Given the description of an element on the screen output the (x, y) to click on. 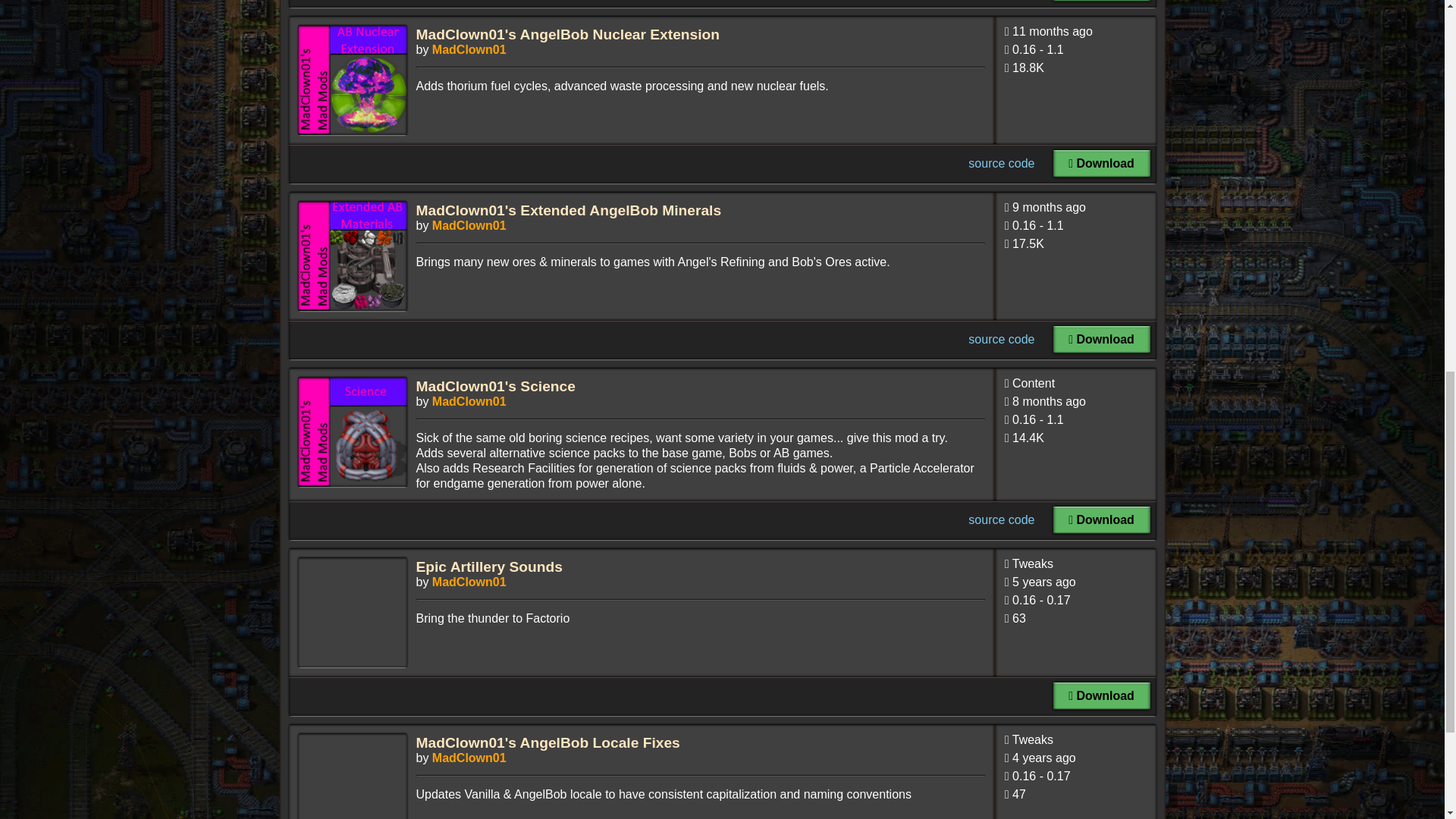
MadClown01 (469, 757)
MadClown01 (469, 225)
Download (1101, 338)
source code (1000, 163)
MadClown01's Science (494, 385)
source code (1000, 519)
Downloads, updated daily (1075, 247)
Available for these Factorio versions (1075, 229)
Available for these Factorio versions (1075, 53)
Download (1101, 696)
2023-10-11T08:11:58.801000 (1048, 206)
17496 (1027, 243)
18759 (1027, 67)
Last updated (1075, 210)
Download (1101, 163)
